Given the description of an element on the screen output the (x, y) to click on. 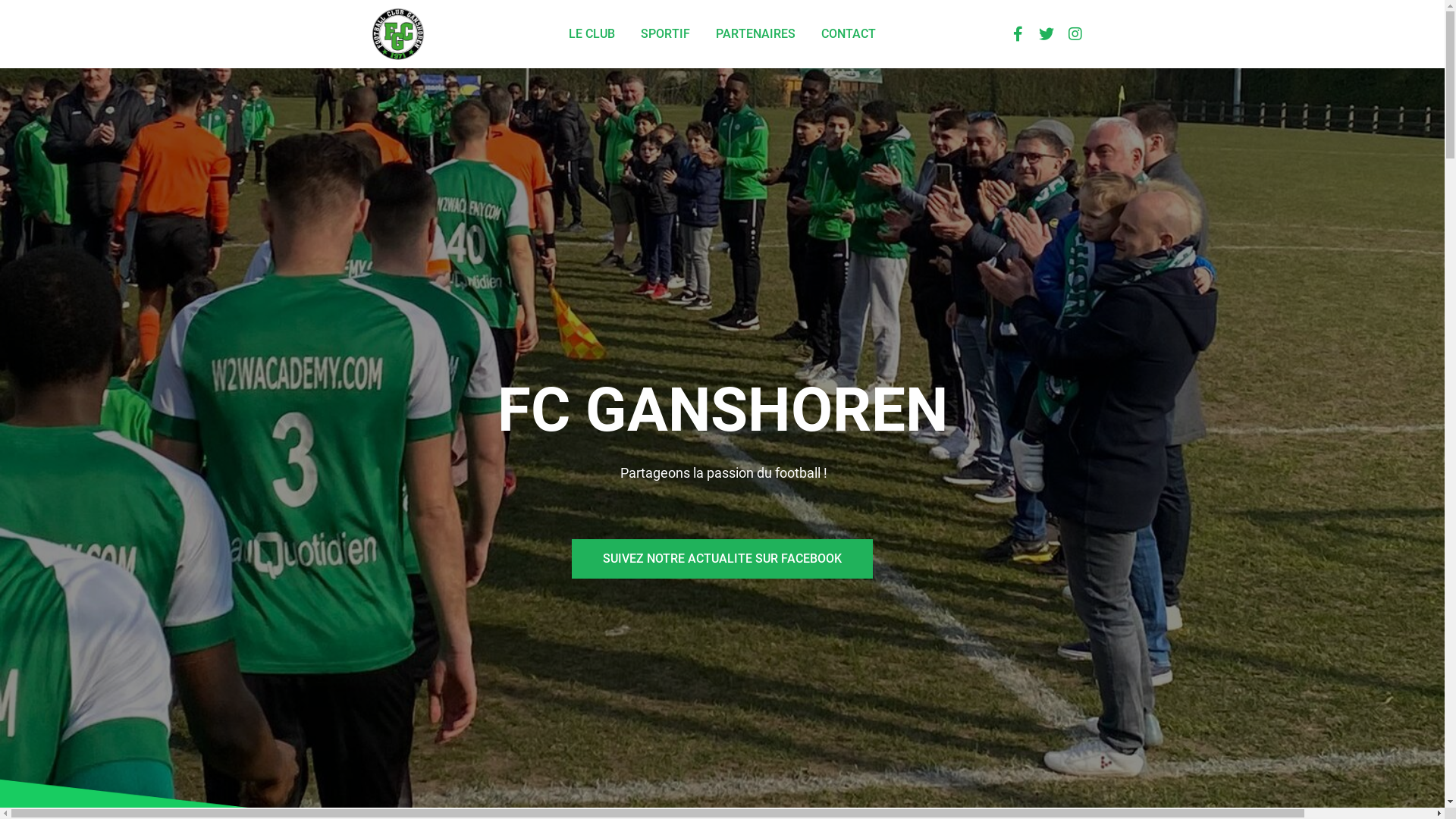
SUIVEZ NOTRE ACTUALITE SUR FACEBOOK Element type: text (721, 558)
CONTACT Element type: text (848, 34)
PARTENAIRES Element type: text (755, 34)
LE CLUB Element type: text (591, 34)
SPORTIF Element type: text (665, 34)
